Given the description of an element on the screen output the (x, y) to click on. 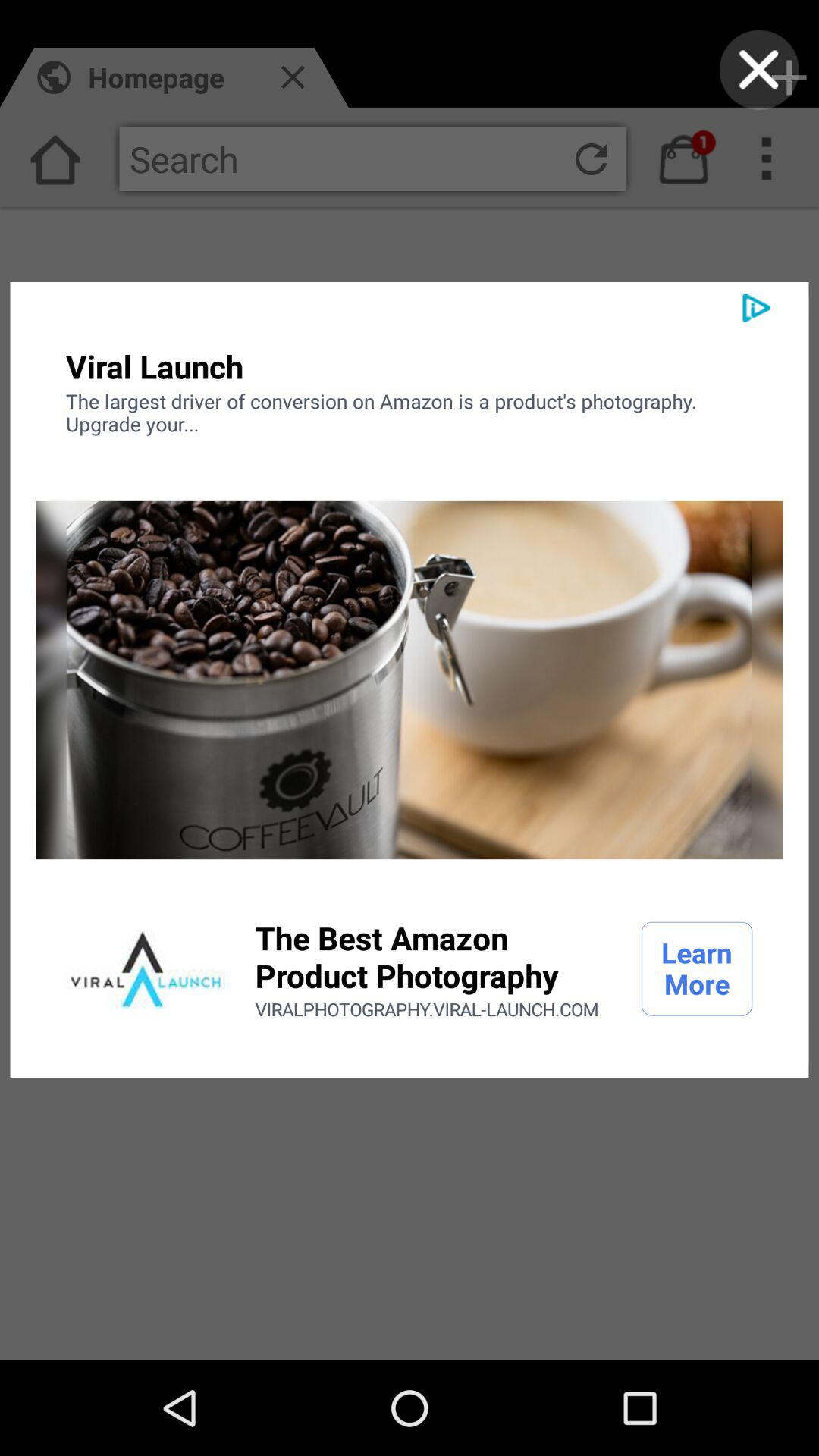
click item to the right of the best amazon icon (696, 968)
